Given the description of an element on the screen output the (x, y) to click on. 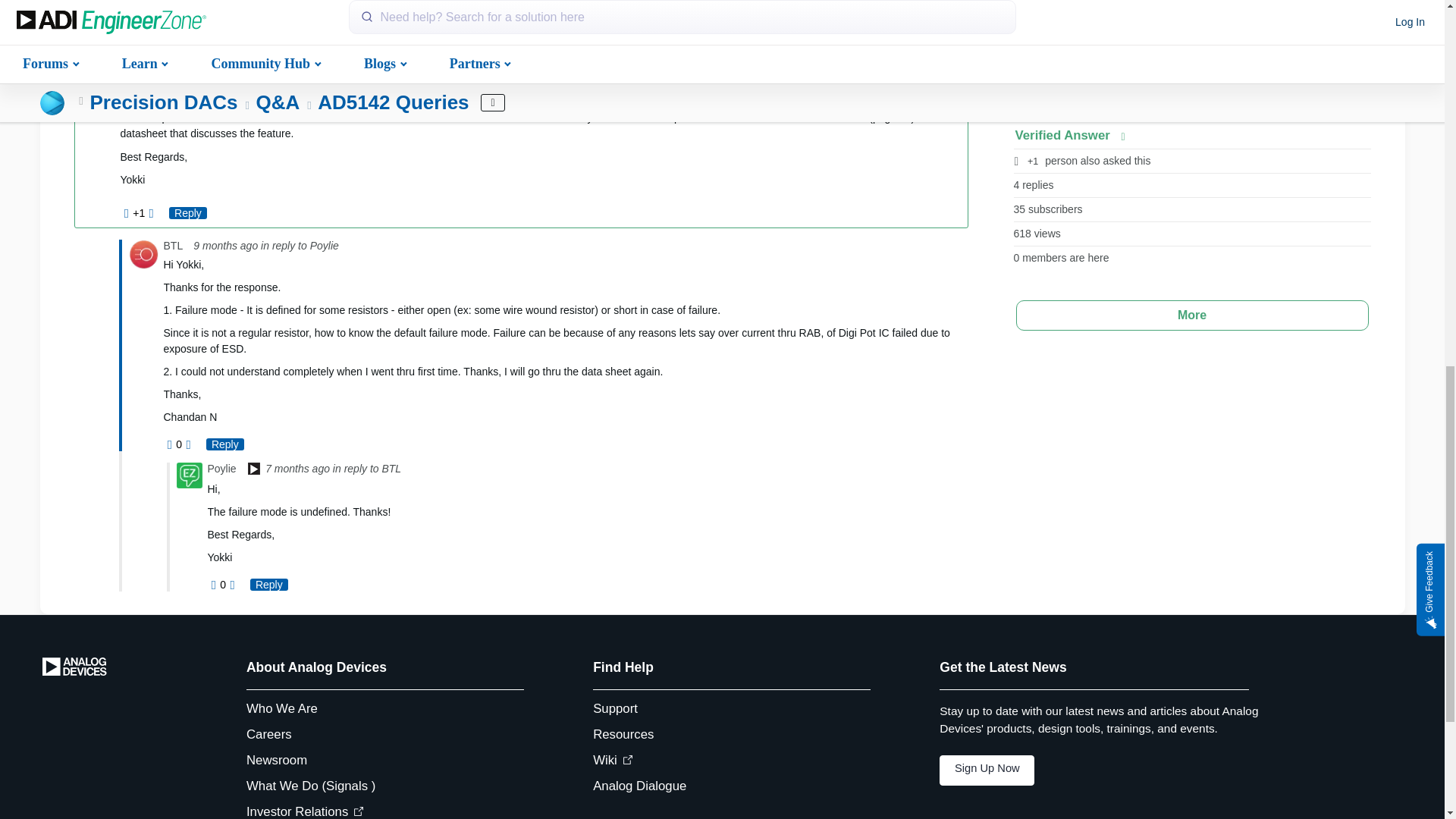
Analog Employees (253, 469)
Analog Employees (166, 37)
